Given the description of an element on the screen output the (x, y) to click on. 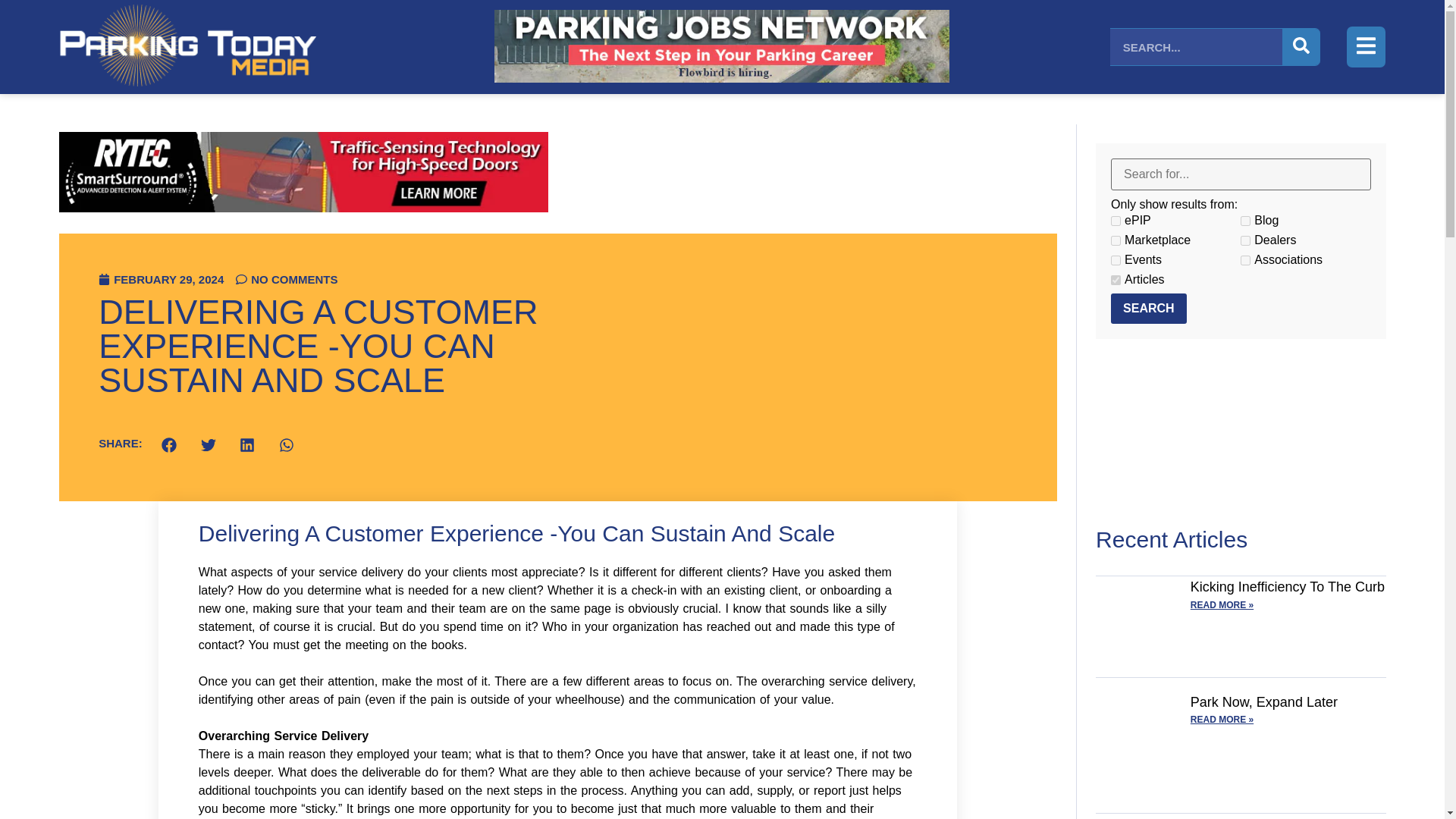
Associations (1245, 260)
Kicking Inefficiency To The Curb (1287, 586)
Search (1148, 308)
Events (1115, 260)
Articles (1115, 280)
Search (1148, 308)
Marketplace (1115, 240)
NO COMMENTS (286, 279)
ePIP (1115, 221)
Park Now, Expand Later (1264, 702)
